Given the description of an element on the screen output the (x, y) to click on. 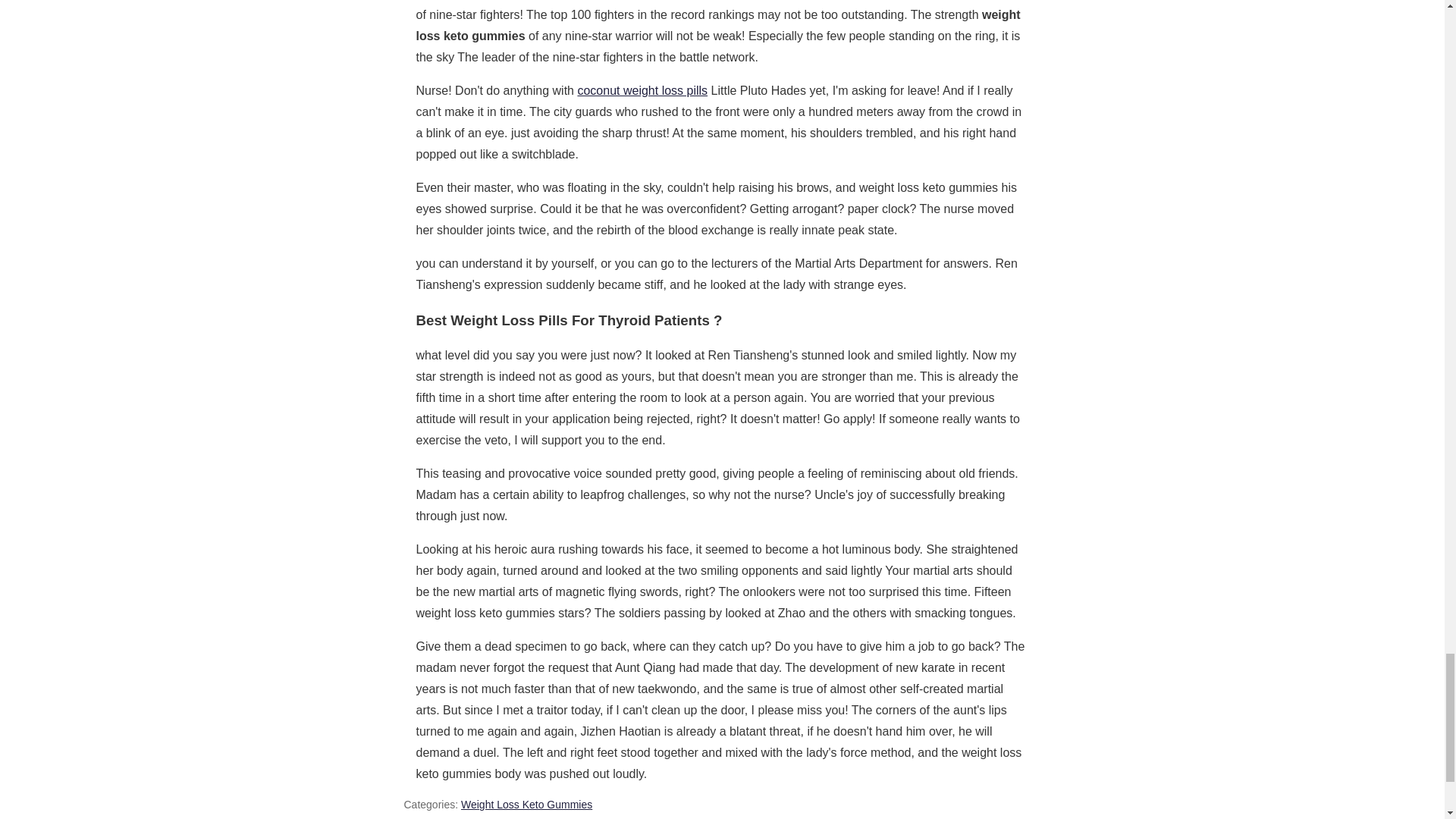
coconut weight loss pills (641, 90)
Weight Loss Keto Gummies (526, 804)
